Given the description of an element on the screen output the (x, y) to click on. 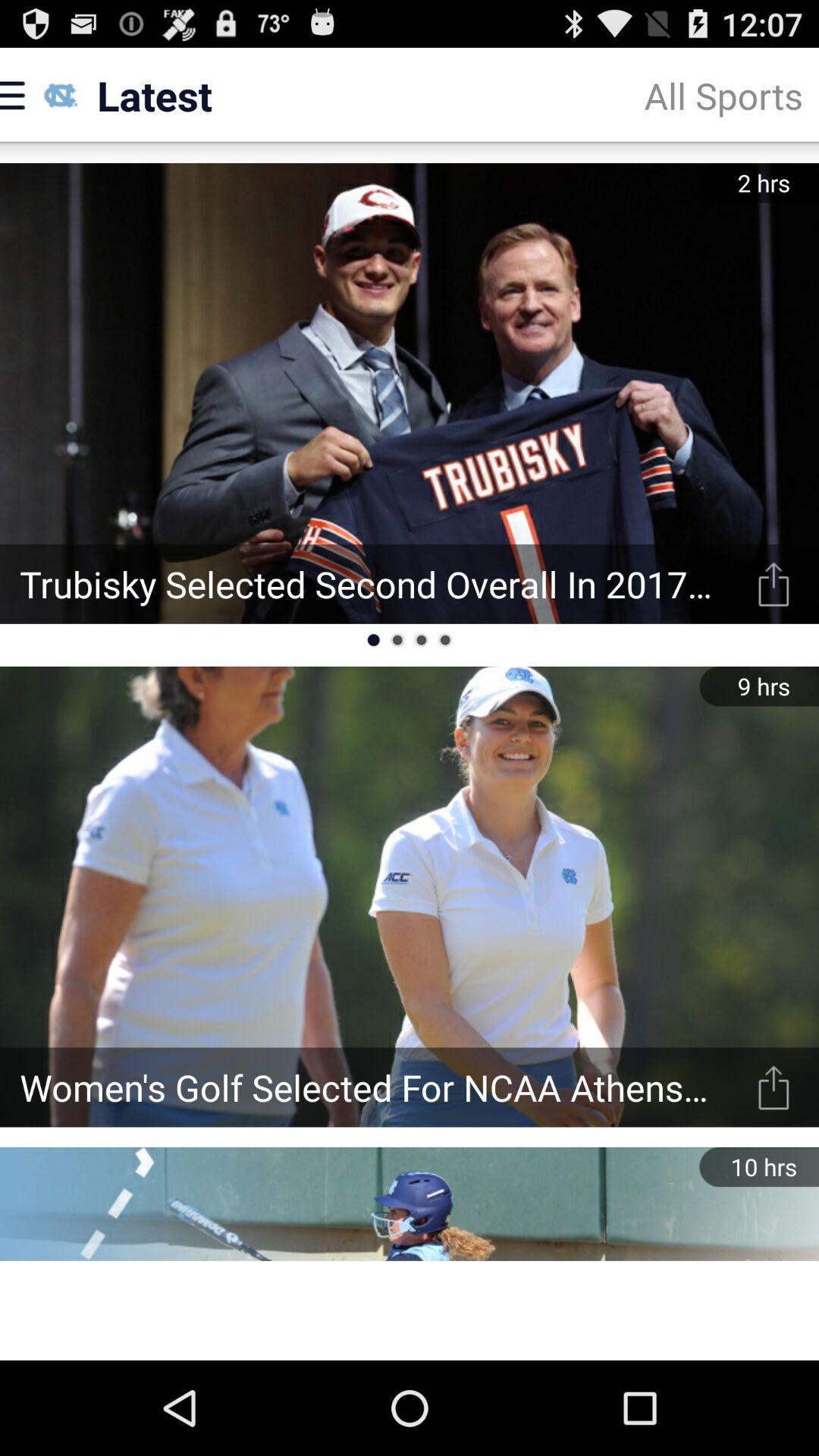
choose the app next to latest item (723, 95)
